Given the description of an element on the screen output the (x, y) to click on. 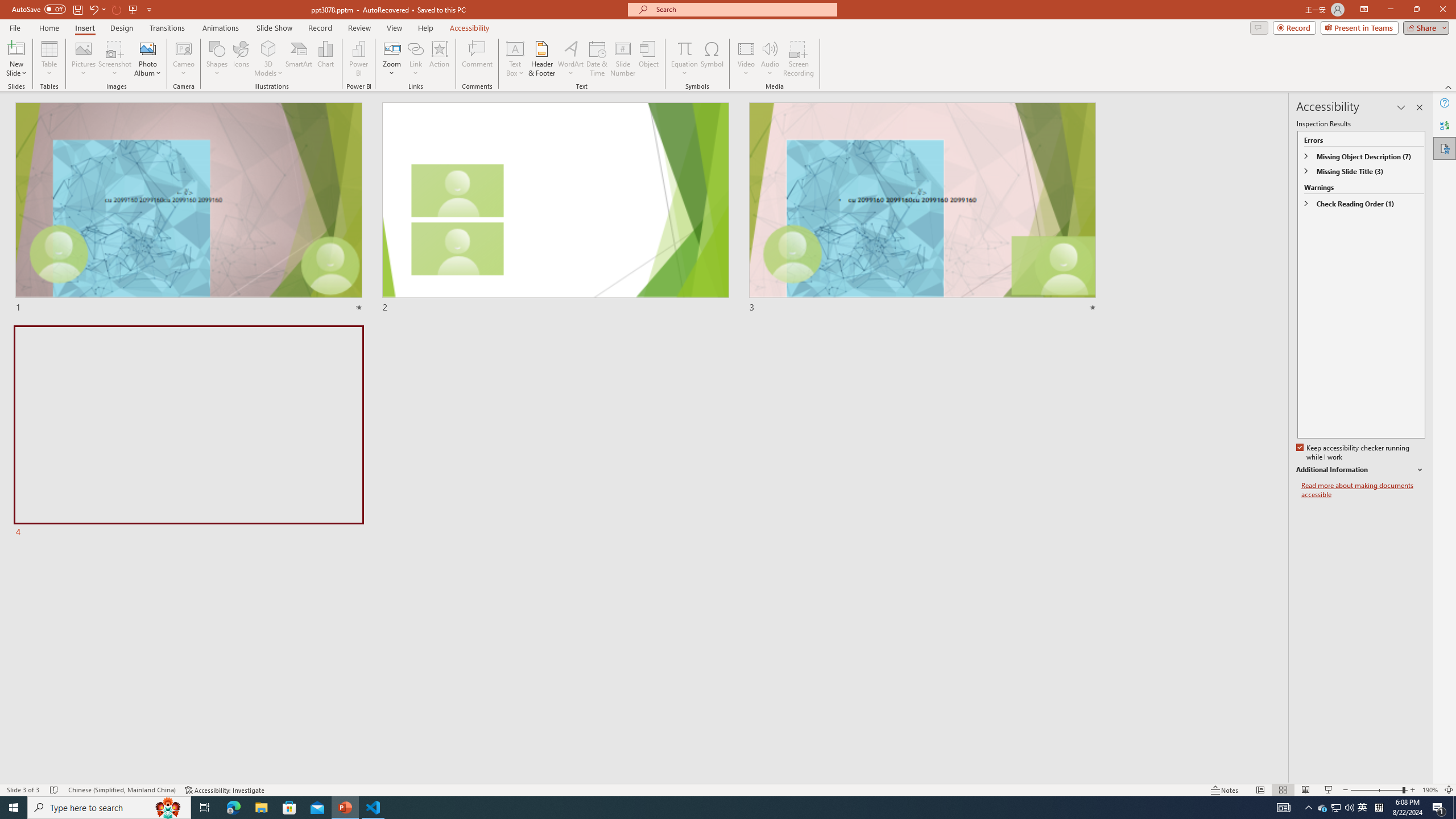
Screenshot (114, 58)
Chart... (325, 58)
Header & Footer... (541, 58)
Photo Album... (147, 58)
